Given the description of an element on the screen output the (x, y) to click on. 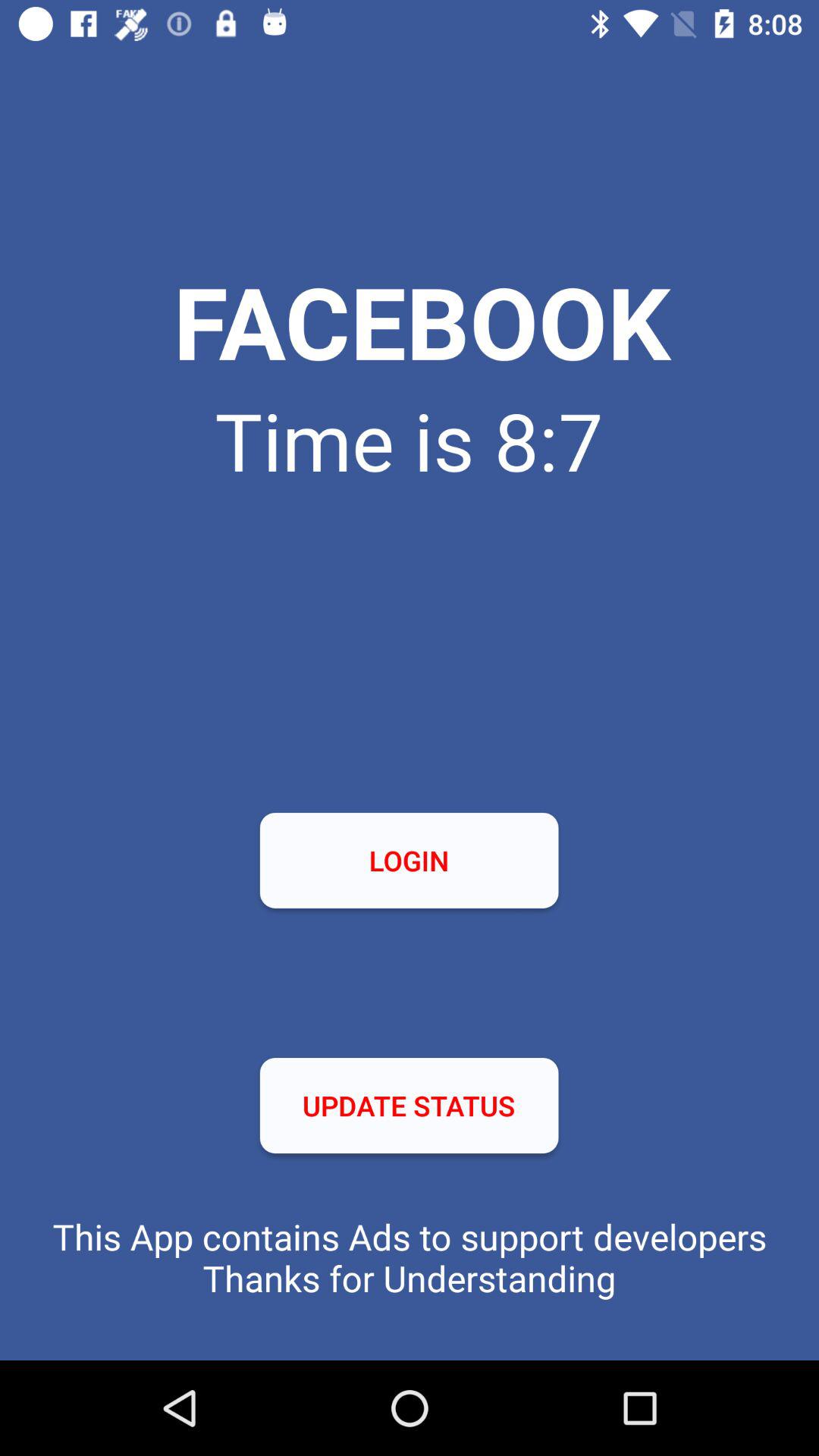
turn off the item below the login button (408, 1105)
